Given the description of an element on the screen output the (x, y) to click on. 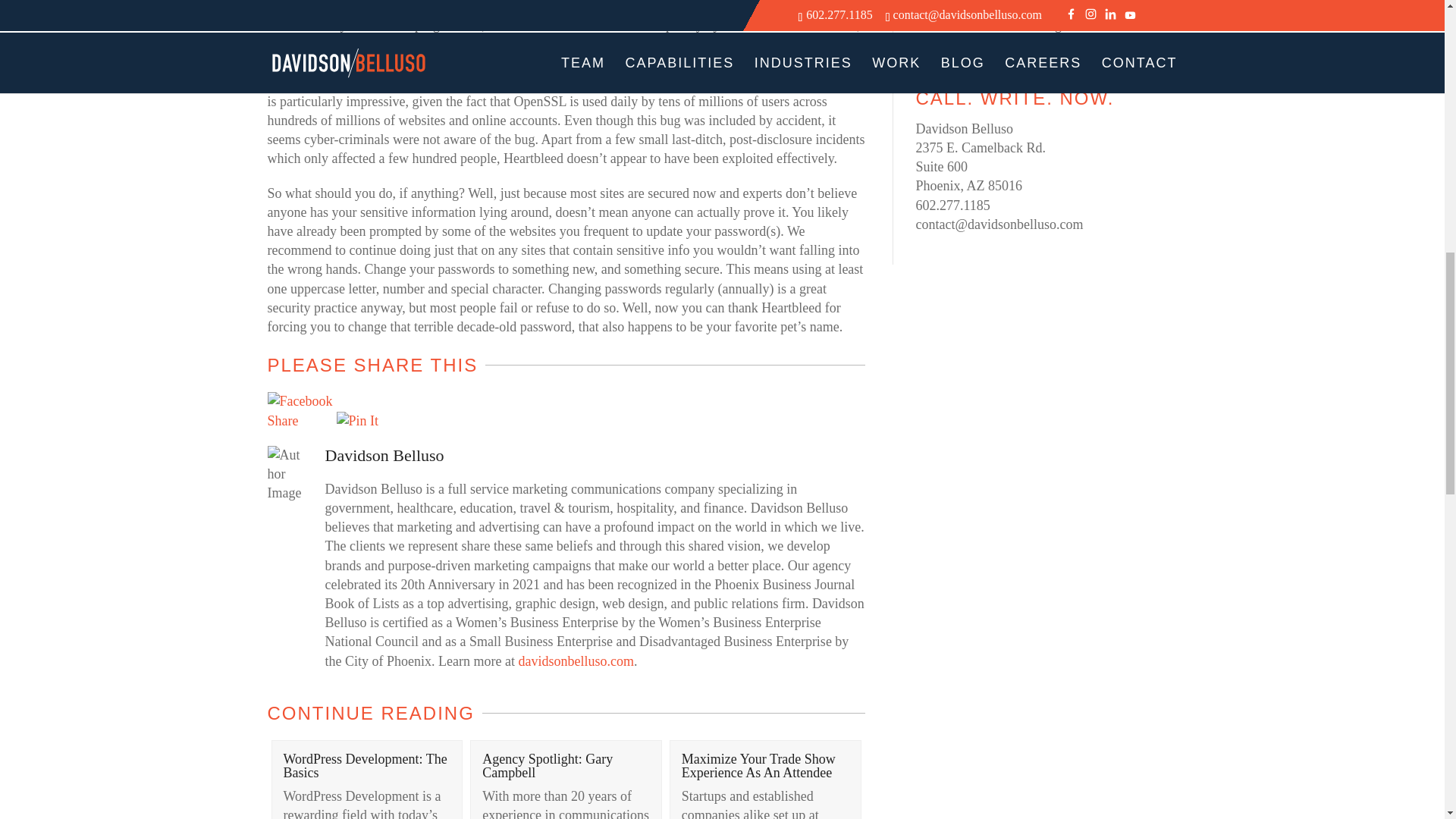
davidsonbelluso.com (575, 661)
Maximize Your Trade Show Experience As An Attendee (758, 765)
Agency Spotlight: Gary Campbell (546, 765)
WordPress Development: The Basics (364, 765)
602.277.1185 (952, 205)
